Given the description of an element on the screen output the (x, y) to click on. 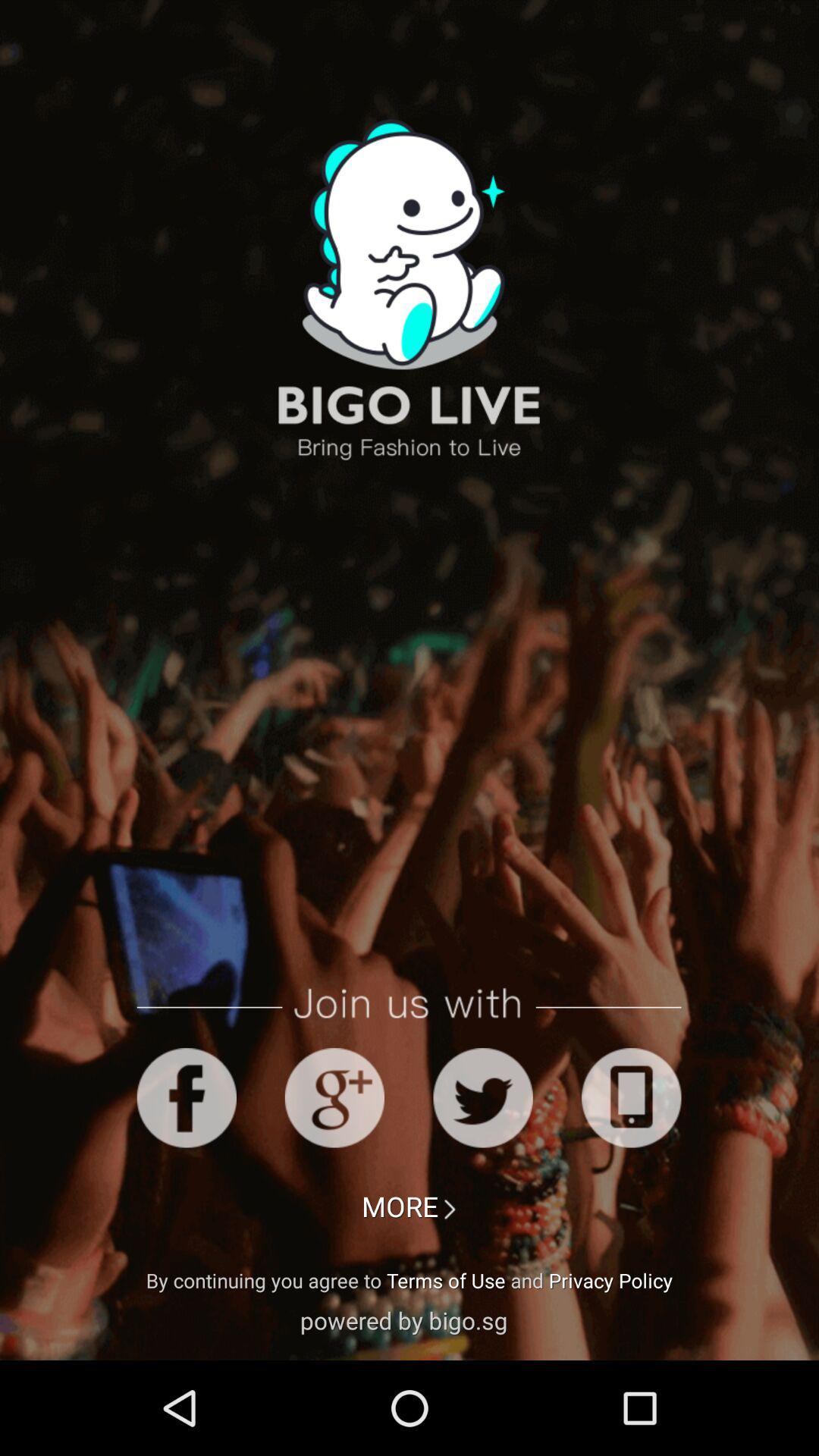
login with tweeter (482, 1097)
